Given the description of an element on the screen output the (x, y) to click on. 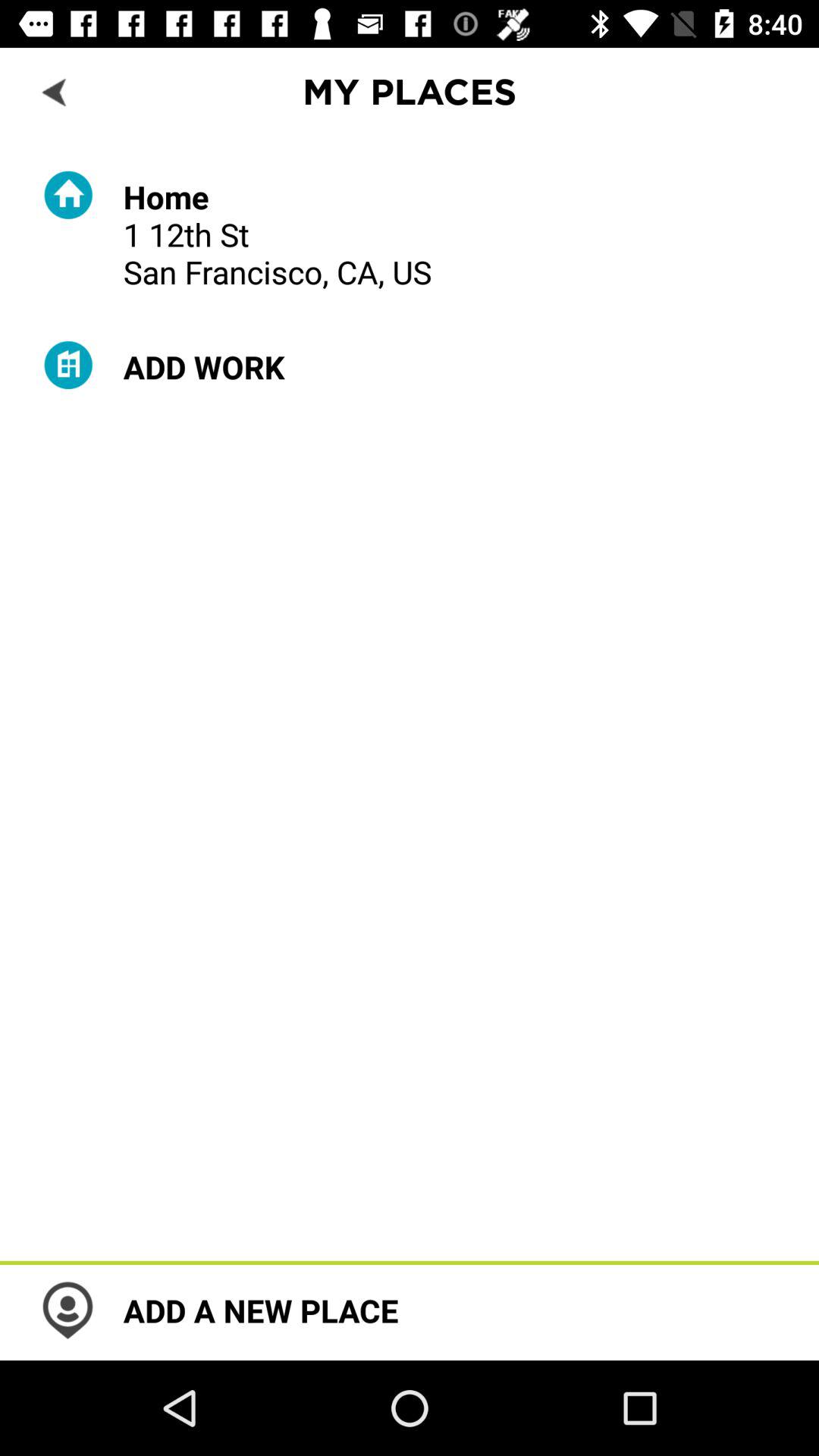
turn off the item above the add work (277, 234)
